Given the description of an element on the screen output the (x, y) to click on. 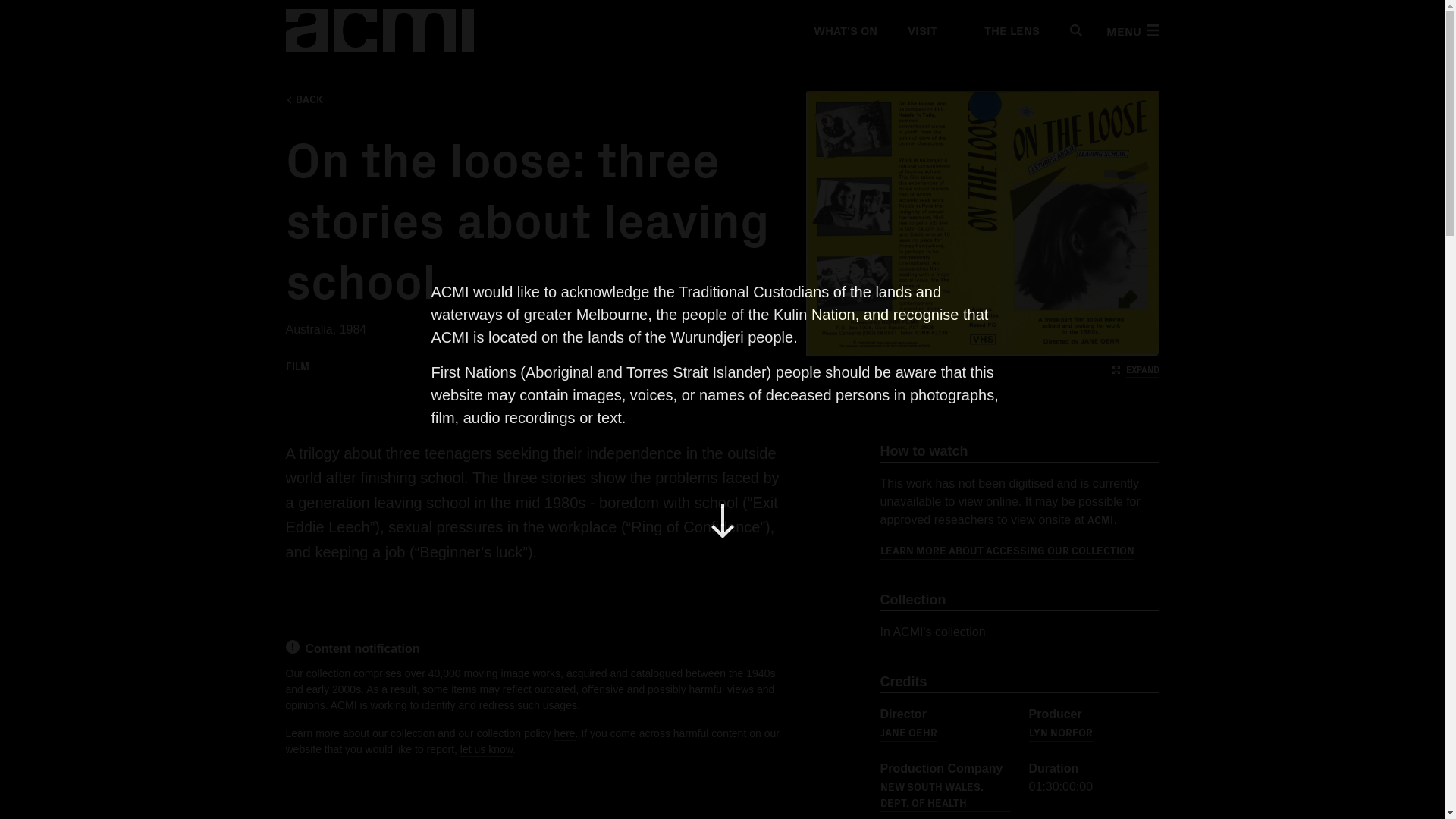
WHAT'S ON (844, 30)
MENU (1131, 29)
VISIT (921, 30)
THE LENS (1003, 30)
